Given the description of an element on the screen output the (x, y) to click on. 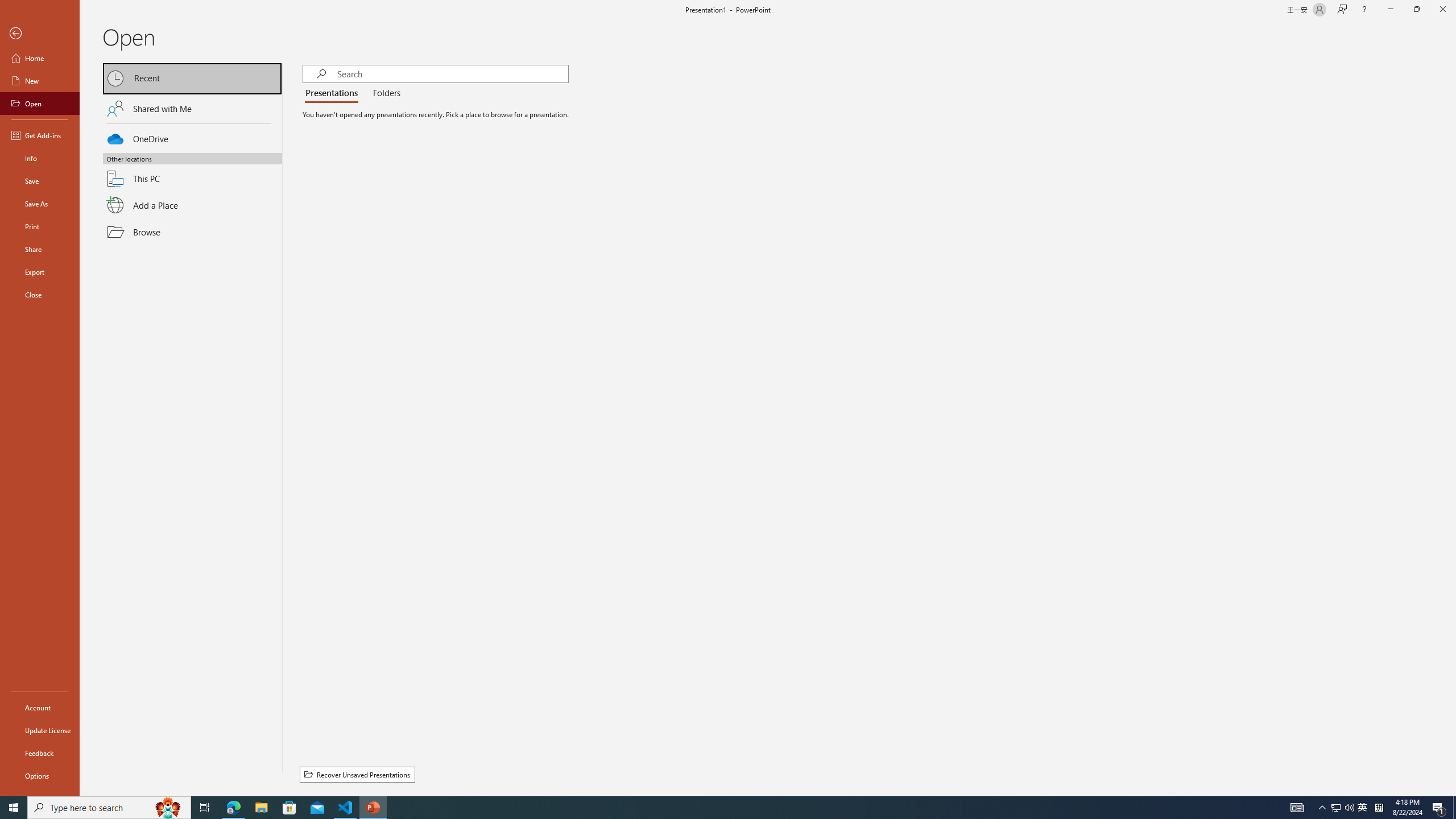
Recent (192, 78)
Feedback (40, 753)
Info (40, 157)
